Given the description of an element on the screen output the (x, y) to click on. 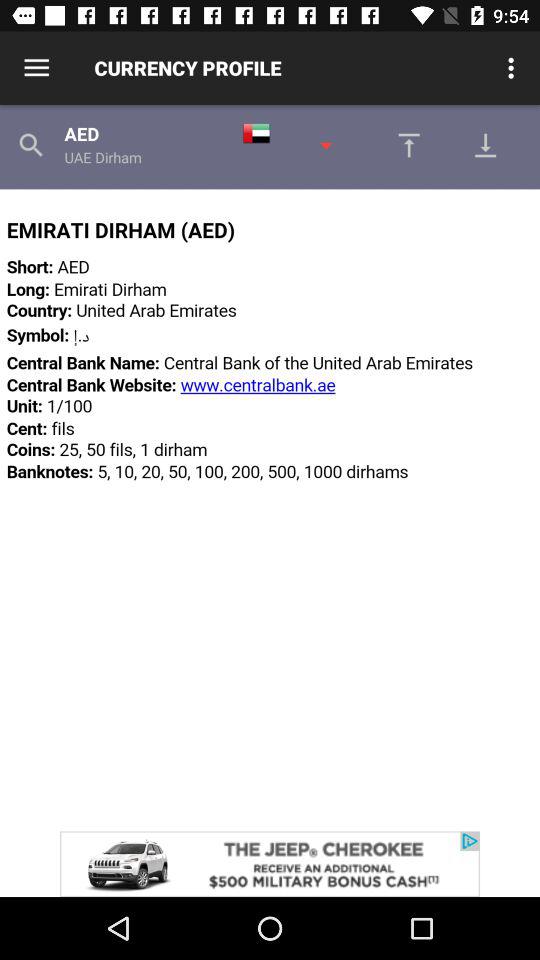
go down page (491, 145)
